Given the description of an element on the screen output the (x, y) to click on. 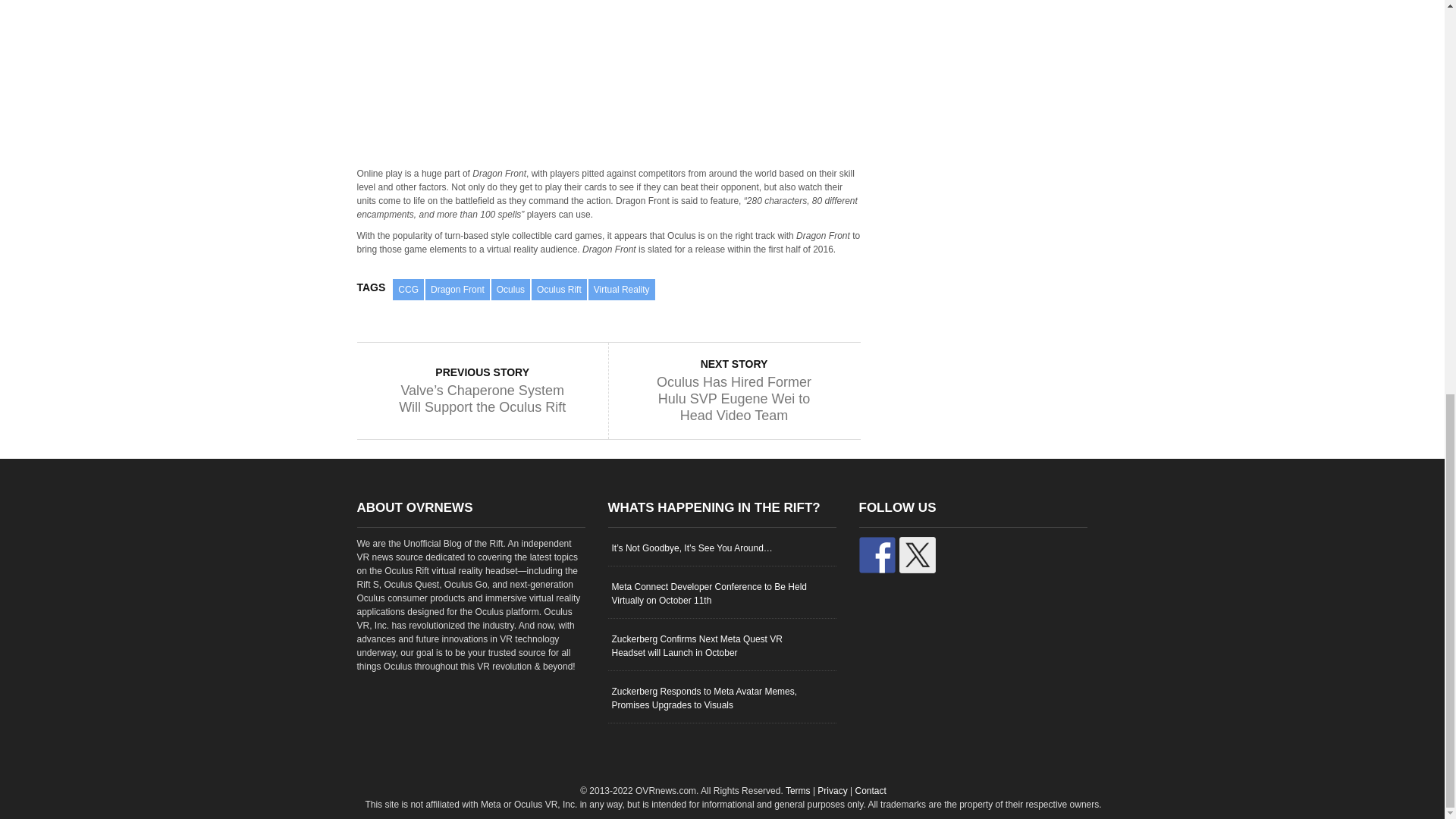
CCG (408, 289)
Oculus Rift (558, 289)
Dragon Front (457, 289)
Virtual Reality (621, 289)
Oculus (510, 289)
